Given the description of an element on the screen output the (x, y) to click on. 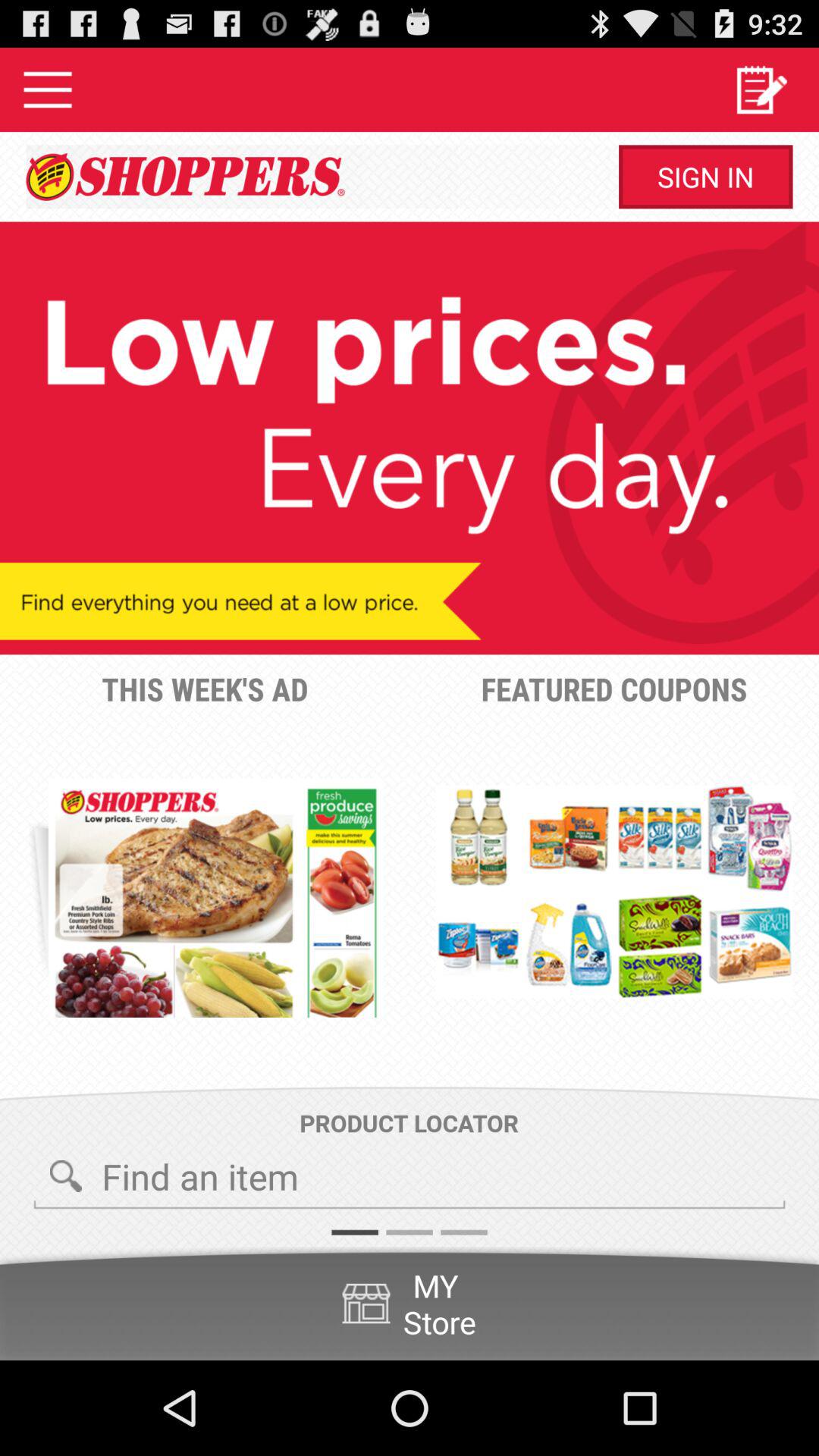
open the icon below product locator (409, 1177)
